Given the description of an element on the screen output the (x, y) to click on. 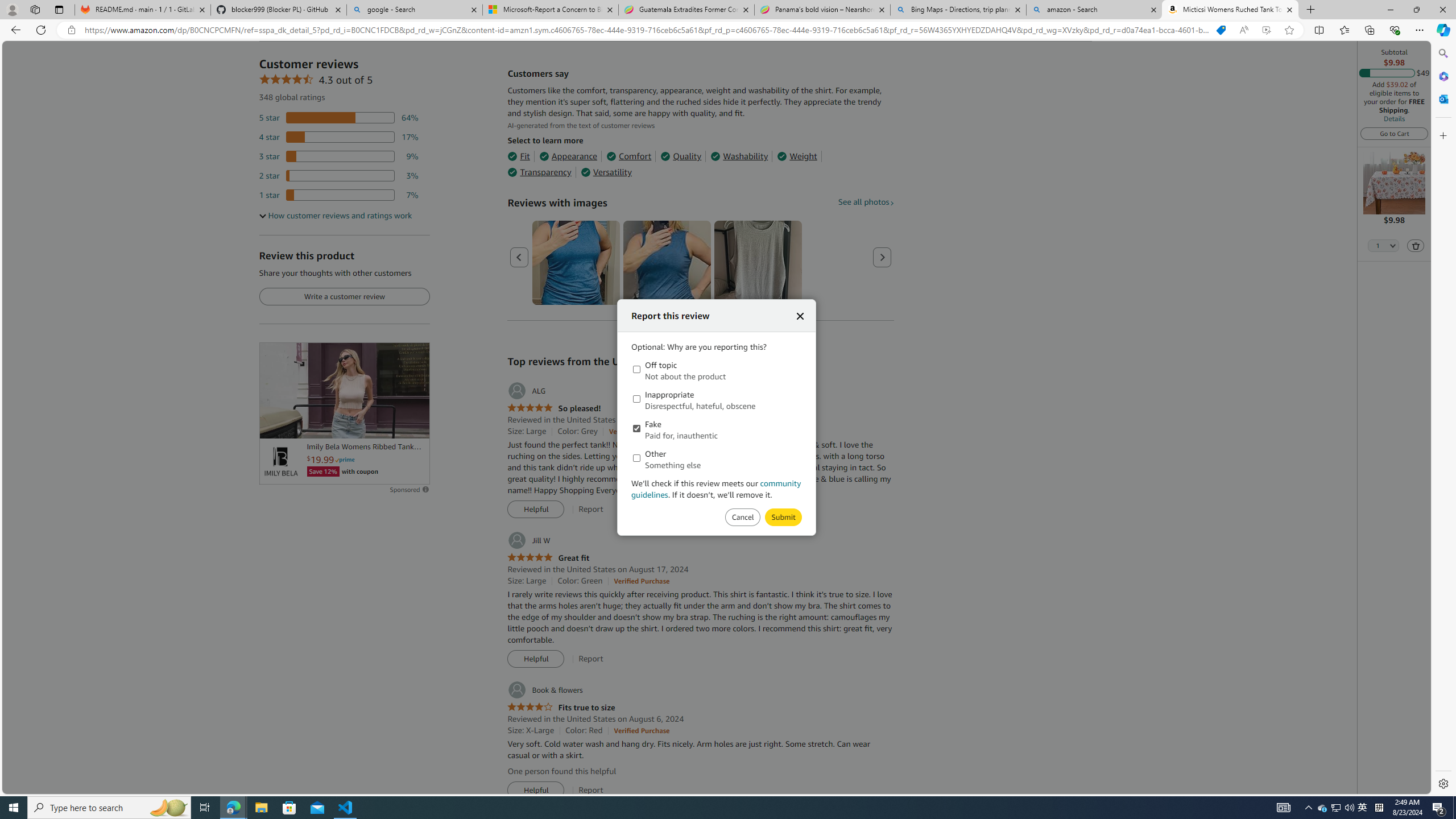
3 percent of reviews have 2 stars (339, 175)
5.0 out of 5 stars Great fit (547, 557)
Comfort (628, 156)
Quality (681, 156)
Submit (742, 517)
Pause (273, 424)
